Given the description of an element on the screen output the (x, y) to click on. 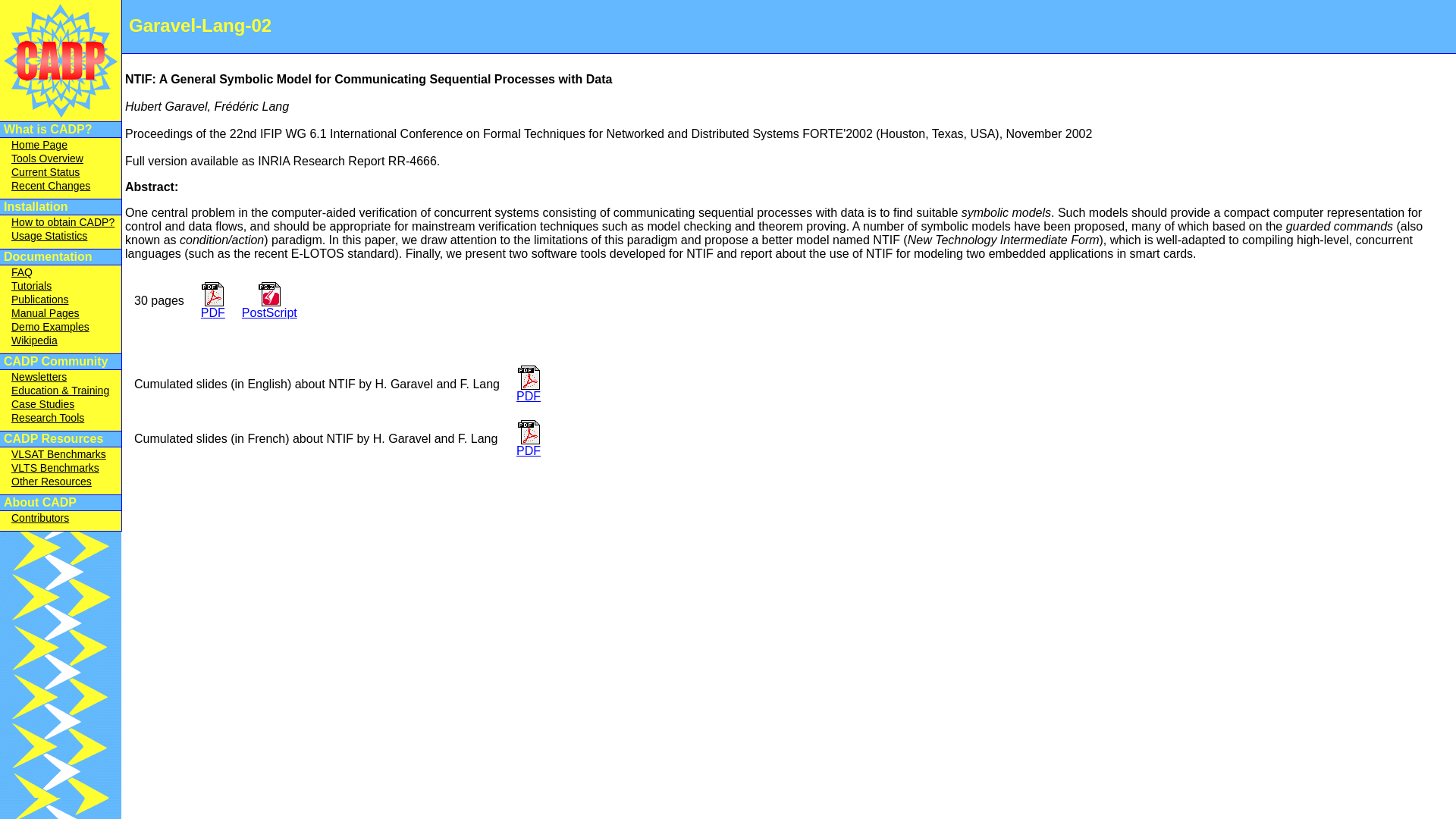
Demo Examples (49, 326)
Tutorials (30, 285)
Recent Changes (50, 185)
Tools Overview (46, 158)
Manual Pages (45, 313)
Research Tools (47, 417)
Newsletters (38, 377)
Contributors (39, 517)
Case Studies (42, 404)
VLTS Benchmarks (55, 467)
